Given the description of an element on the screen output the (x, y) to click on. 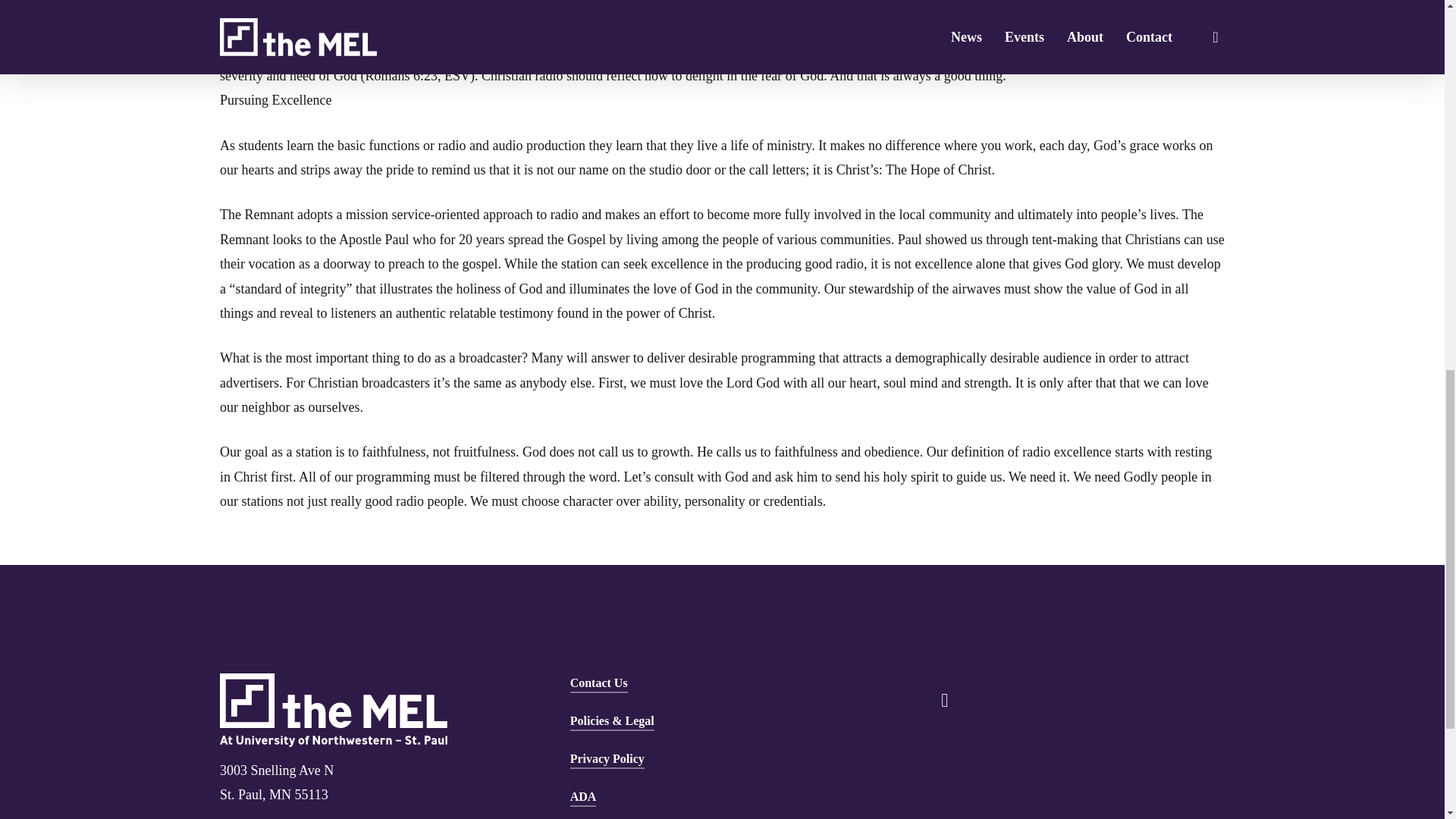
ADA (583, 796)
Contact Us (598, 682)
Privacy Policy (607, 759)
